Given the description of an element on the screen output the (x, y) to click on. 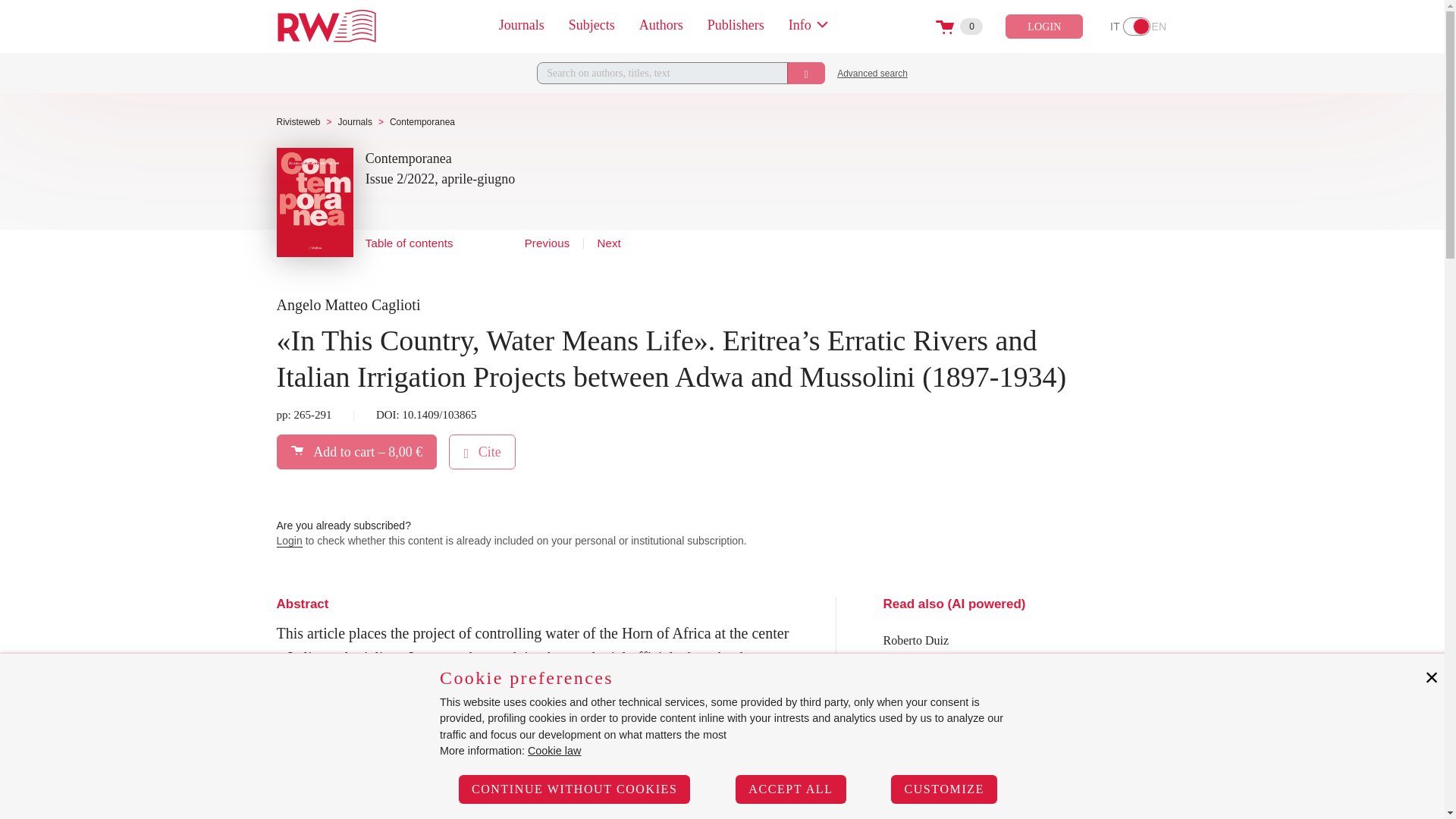
Add to cart (356, 451)
Journals (521, 25)
Angelo Matteo Caglioti (1137, 26)
LOGIN (348, 305)
0 (1044, 26)
Cite (959, 25)
Rivisteweb Home (481, 451)
Table of contents (325, 25)
Change language IT-EN. Currently in use: English (408, 243)
